Given the description of an element on the screen output the (x, y) to click on. 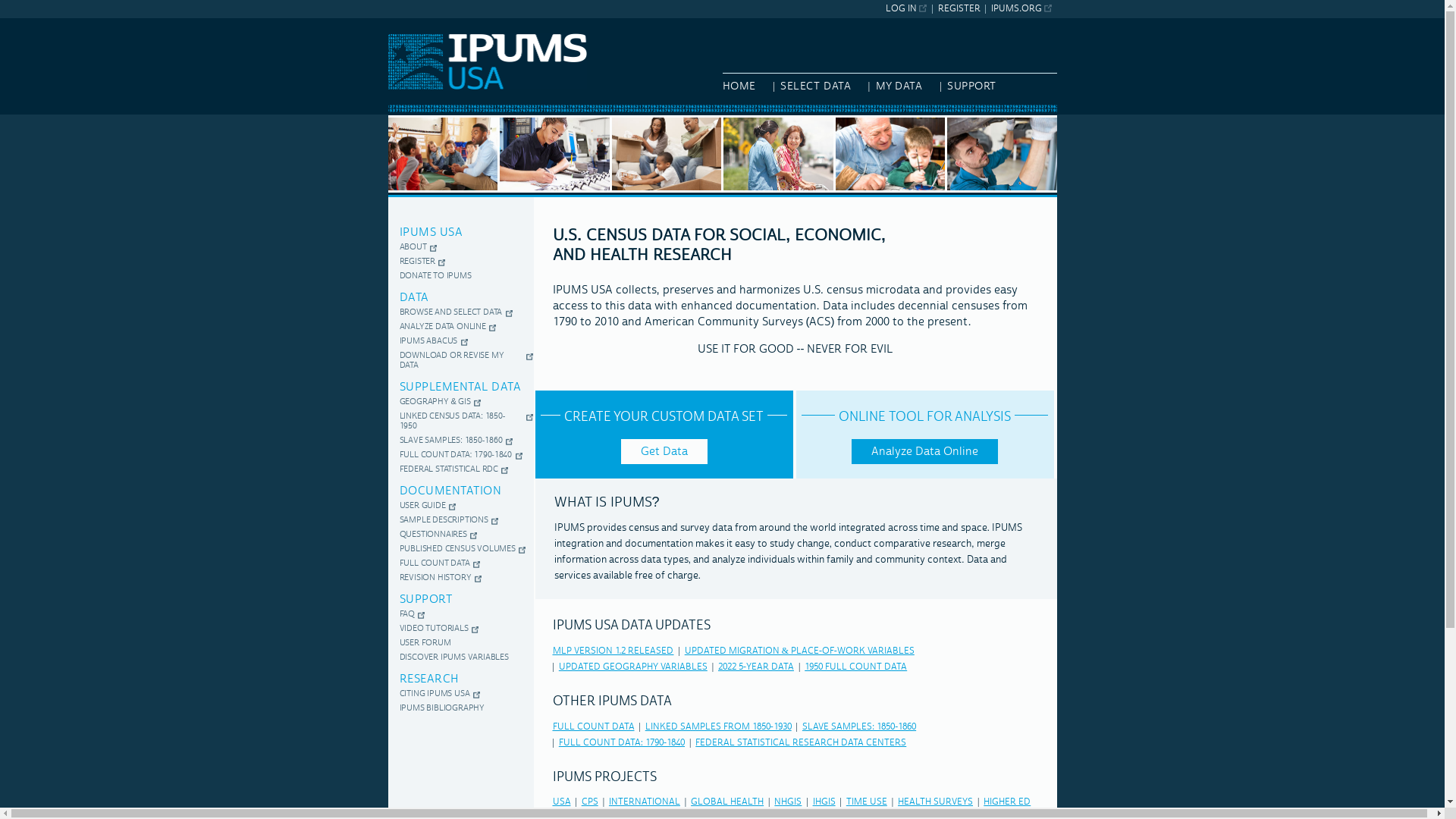
BROWSE AND SELECT DATA (450, 312)
MLP VERSION 1.2 RELEASED (611, 650)
FAQ (407, 614)
REGISTER (958, 8)
UPDATED GEOGRAPHY VARIABLES (633, 666)
1950 FULL COUNT DATA (856, 666)
2022 5-YEAR DATA (755, 666)
FEDERAL STATISTICAL RDC (448, 470)
DOWNLOAD OR REVISE MY DATA (461, 361)
DISCOVER IPUMS VARIABLES (453, 657)
USER FORUM (424, 643)
SUPPORT (977, 86)
ABOUT (413, 247)
DONATE TO IPUMS (434, 276)
IPUMS ABACUS (428, 341)
